Given the description of an element on the screen output the (x, y) to click on. 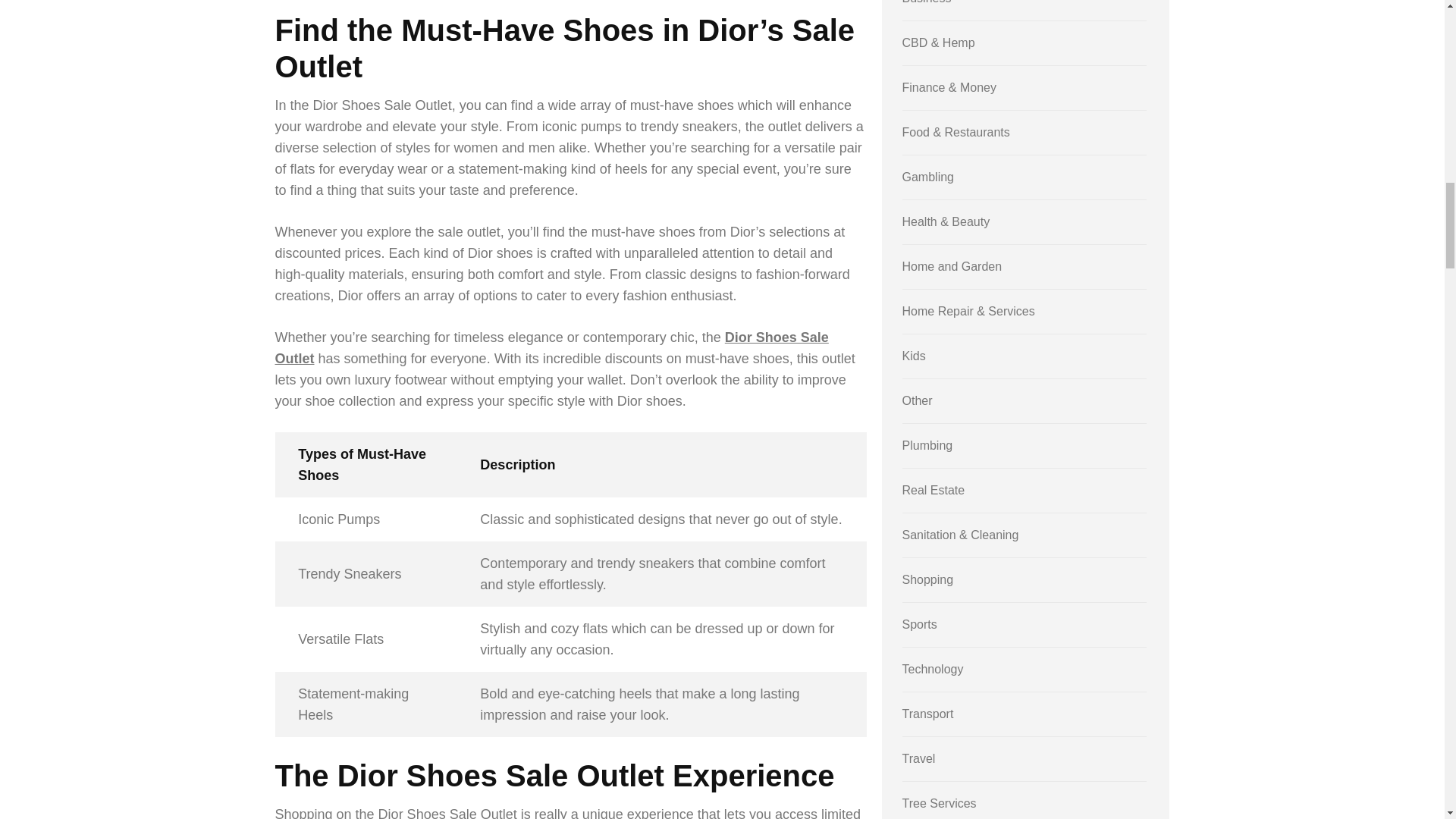
Dior Shoes Sale Outlet (551, 348)
